Given the description of an element on the screen output the (x, y) to click on. 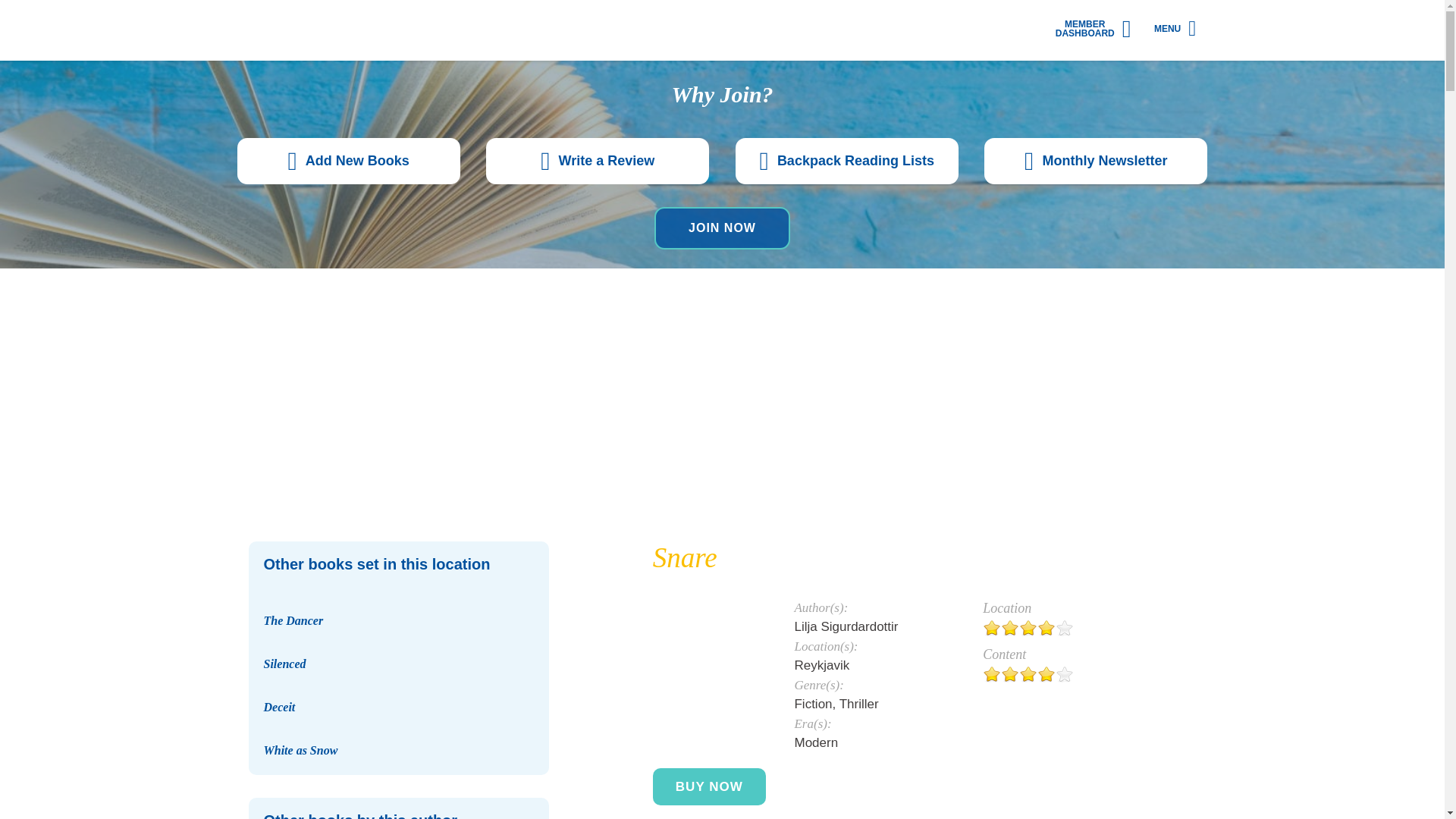
Silenced (284, 663)
White as Snow (300, 749)
Silenced (284, 663)
TripFiction (321, 30)
BUY NOW (708, 786)
White as Snow (398, 723)
Silenced (398, 636)
The Dancer (293, 620)
The Dancer (398, 593)
JOIN NOW (721, 228)
